Given the description of an element on the screen output the (x, y) to click on. 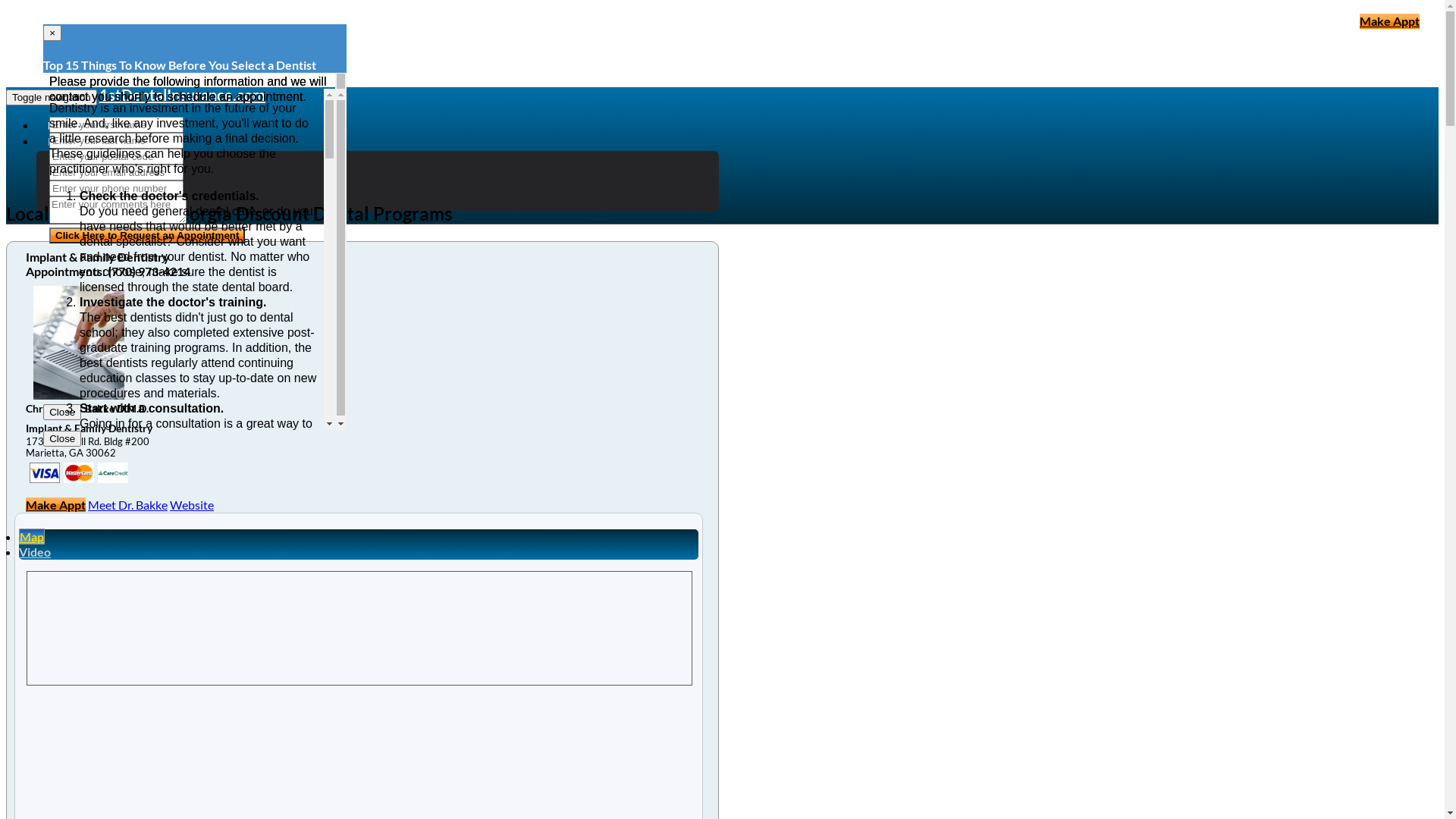
my title Element type: hover (78, 472)
Make Appt Element type: text (55, 504)
Video Element type: text (34, 551)
Toggle navigation Element type: text (51, 97)
1stDentalInsurance.com Element type: text (182, 94)
Map Element type: text (31, 536)
Make Appt Element type: text (1389, 20)
Meet Dr. Bakke Element type: text (127, 504)
Dental Plans Element type: text (99, 157)
Home Element type: text (60, 125)
my title Element type: hover (112, 472)
Close Element type: text (62, 438)
Dental PPO Element type: text (97, 203)
Close Element type: text (62, 412)
Individual Dental Element type: text (111, 188)
my title Element type: hover (44, 472)
Dental Insurance Articles Element type: text (103, 141)
Website Element type: text (191, 504)
Dental Coverage Element type: text (110, 173)
